Given the description of an element on the screen output the (x, y) to click on. 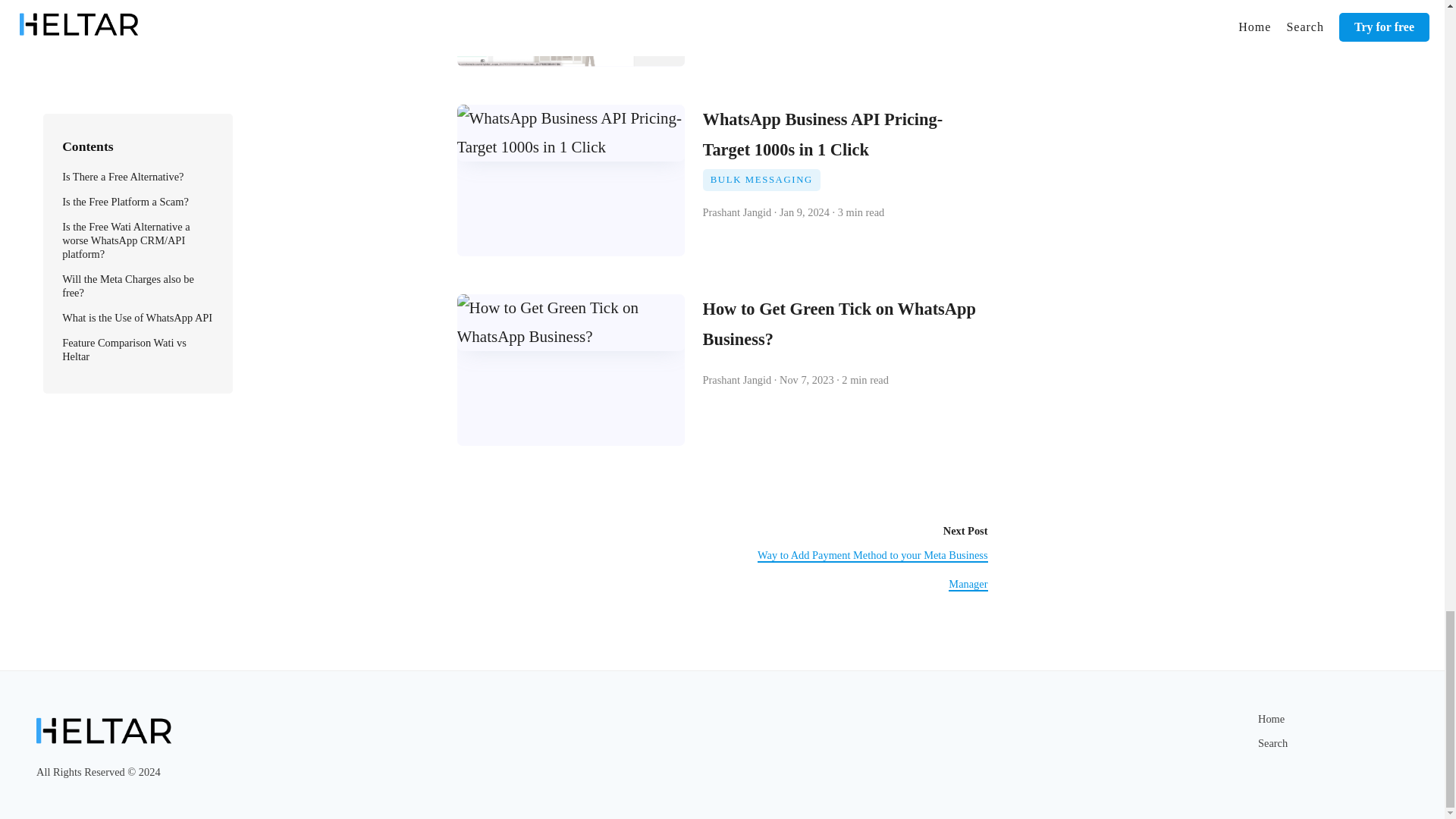
Way to Add Payment Method to your Meta Business Manager (872, 569)
Search (1272, 743)
Home (1270, 718)
